Given the description of an element on the screen output the (x, y) to click on. 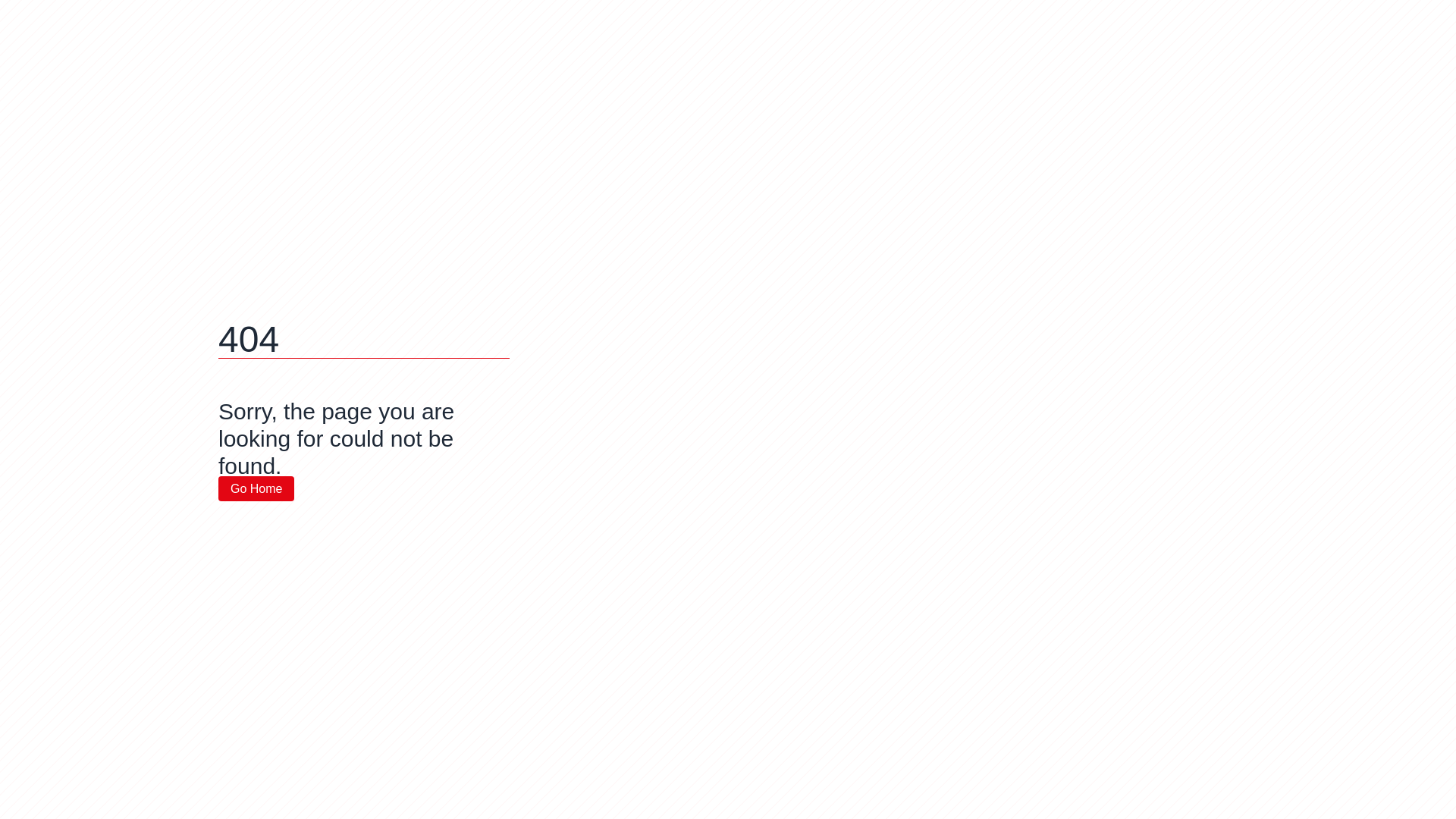
Go Home (256, 488)
